Given the description of an element on the screen output the (x, y) to click on. 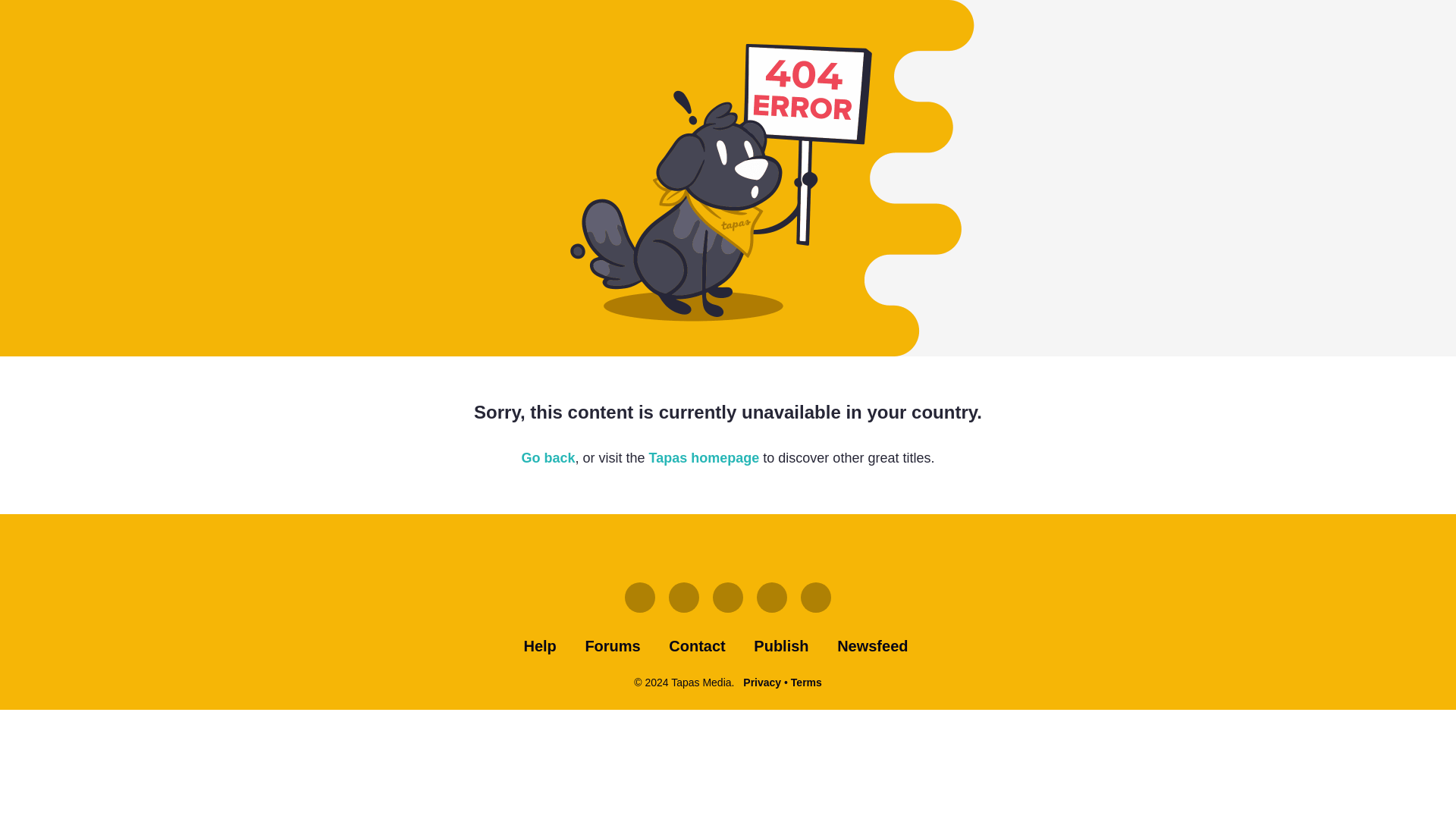
Newsfeed (872, 646)
Contact (696, 646)
Publish (781, 646)
Privacy (761, 682)
Forums (612, 646)
Go back (548, 458)
Help (539, 646)
Terms (806, 682)
Tapas homepage (704, 458)
